Given the description of an element on the screen output the (x, y) to click on. 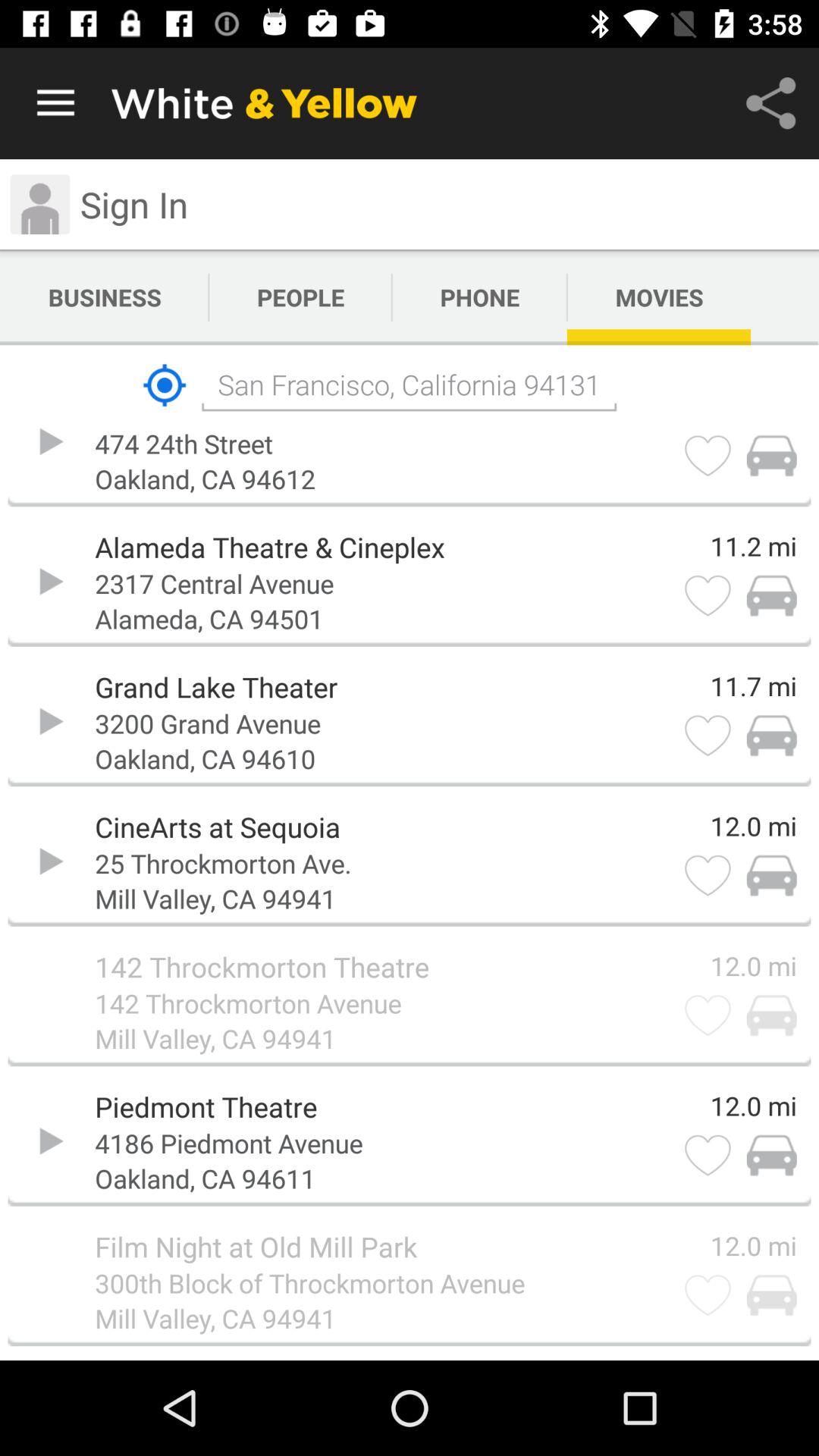
select item next to phone (300, 297)
